Given the description of an element on the screen output the (x, y) to click on. 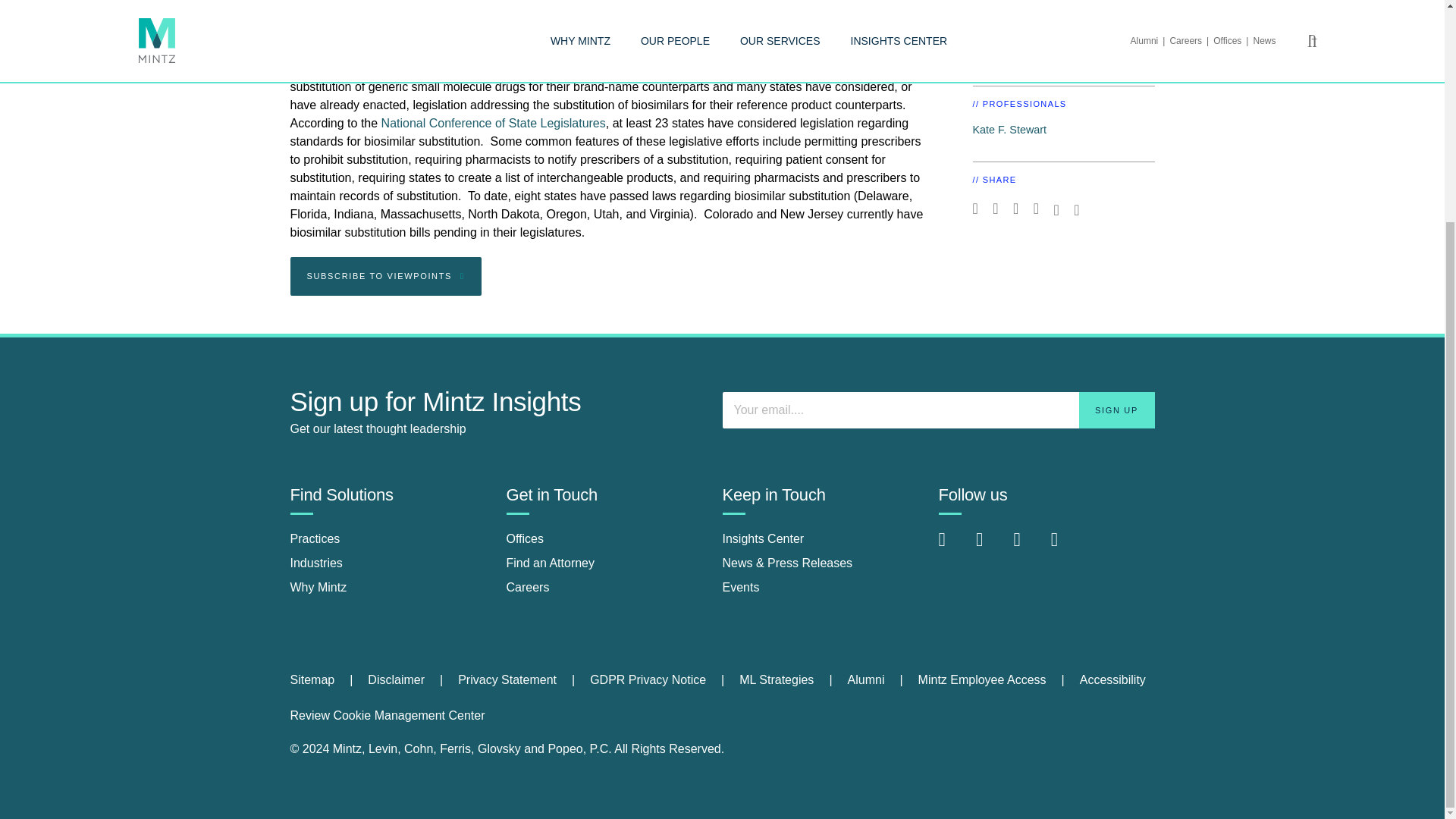
Health Care (1001, 54)
Sign Up (1116, 410)
X (1028, 546)
Kate F. Stewart (1009, 129)
SUBSCRIBE TO VIEWPOINTS (384, 276)
LinkedIn (954, 546)
Sign Up (1116, 410)
National Conference of State Legislatures (493, 123)
Facebook (990, 546)
